Given the description of an element on the screen output the (x, y) to click on. 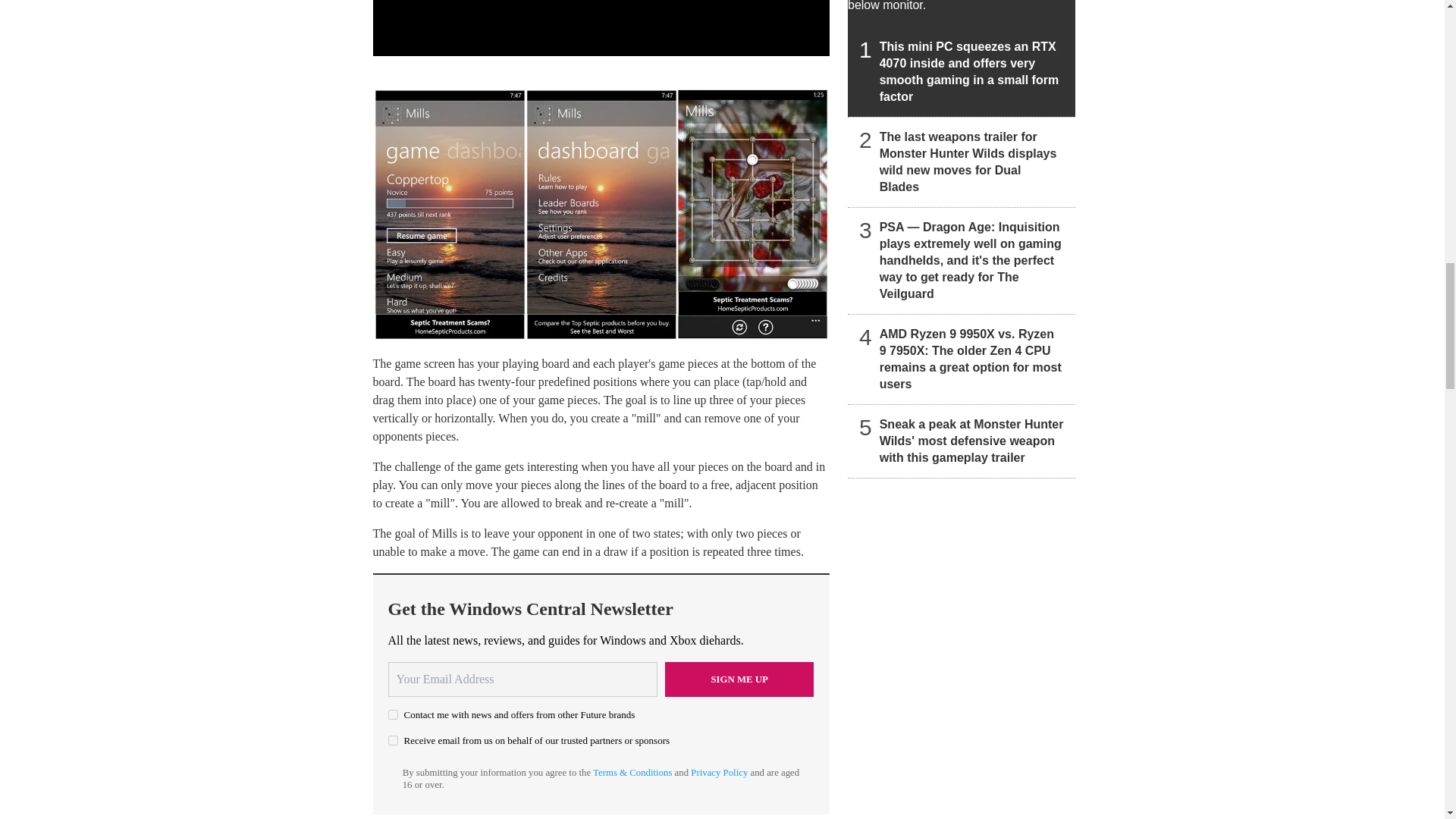
on (392, 740)
Sign me up (739, 678)
Sign me up (739, 678)
Privacy Policy (719, 772)
on (392, 714)
